Given the description of an element on the screen output the (x, y) to click on. 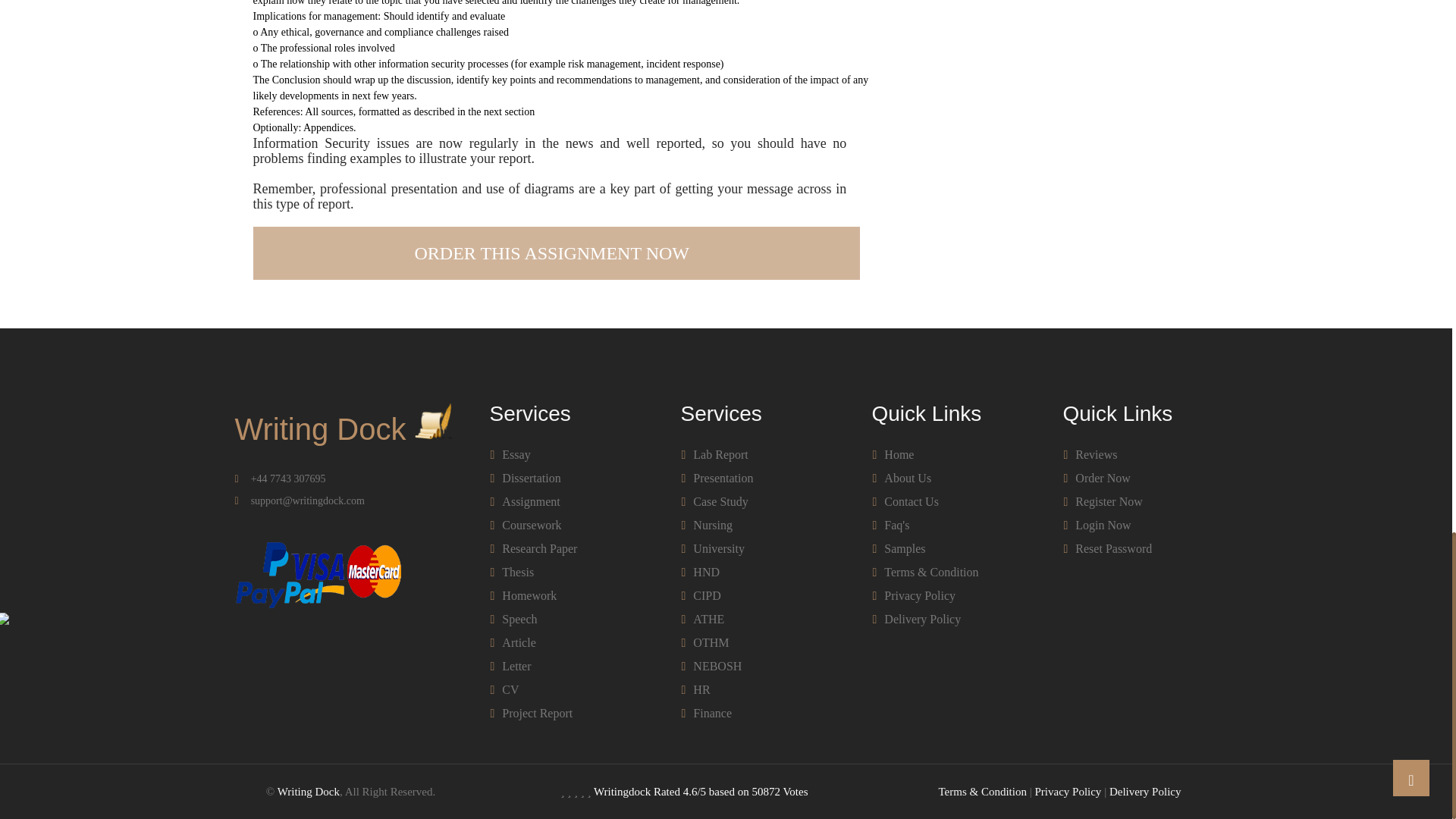
ORDER THIS ASSIGNMENT NOW   (556, 253)
